Given the description of an element on the screen output the (x, y) to click on. 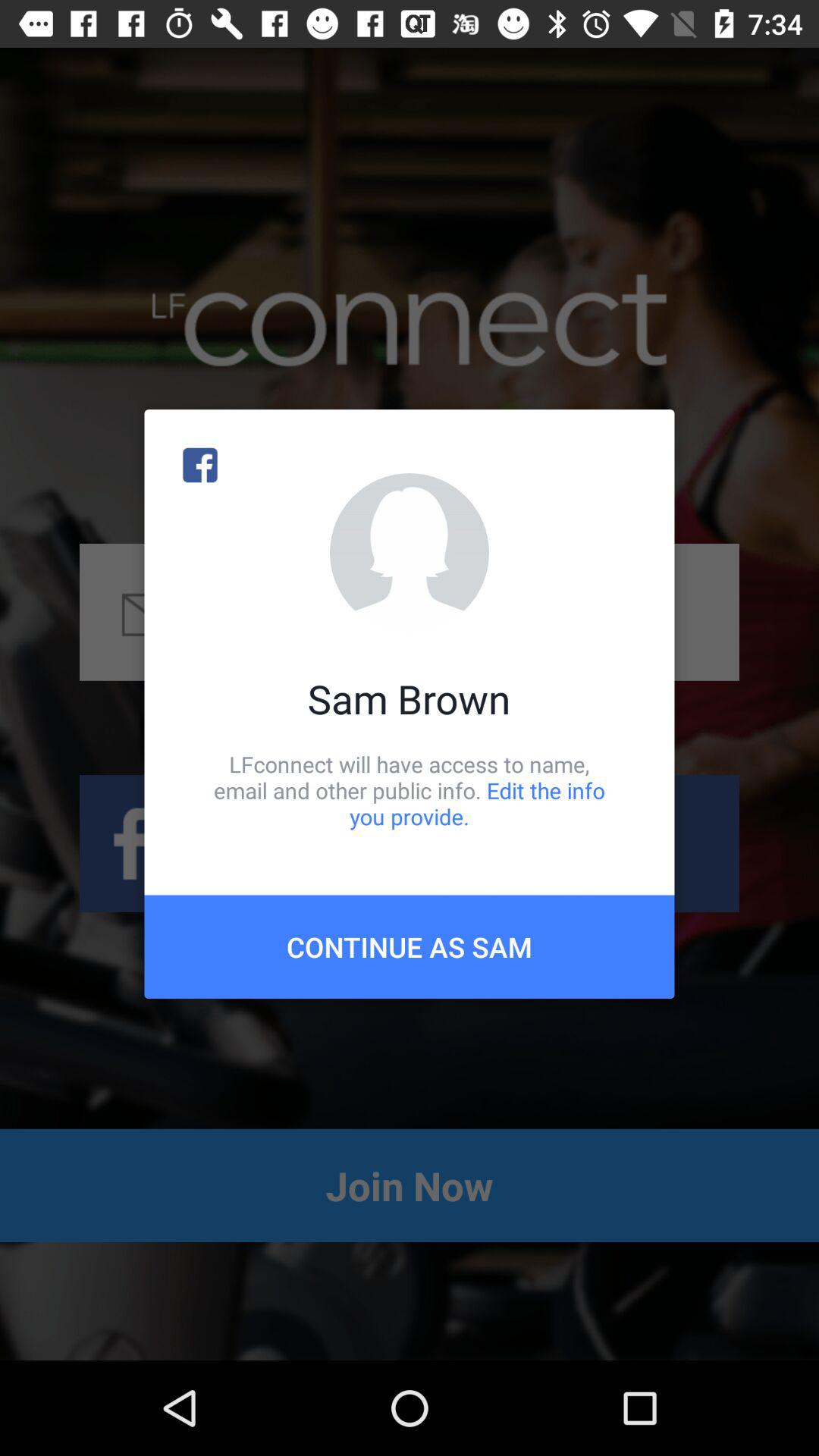
swipe until the lfconnect will have item (409, 790)
